Given the description of an element on the screen output the (x, y) to click on. 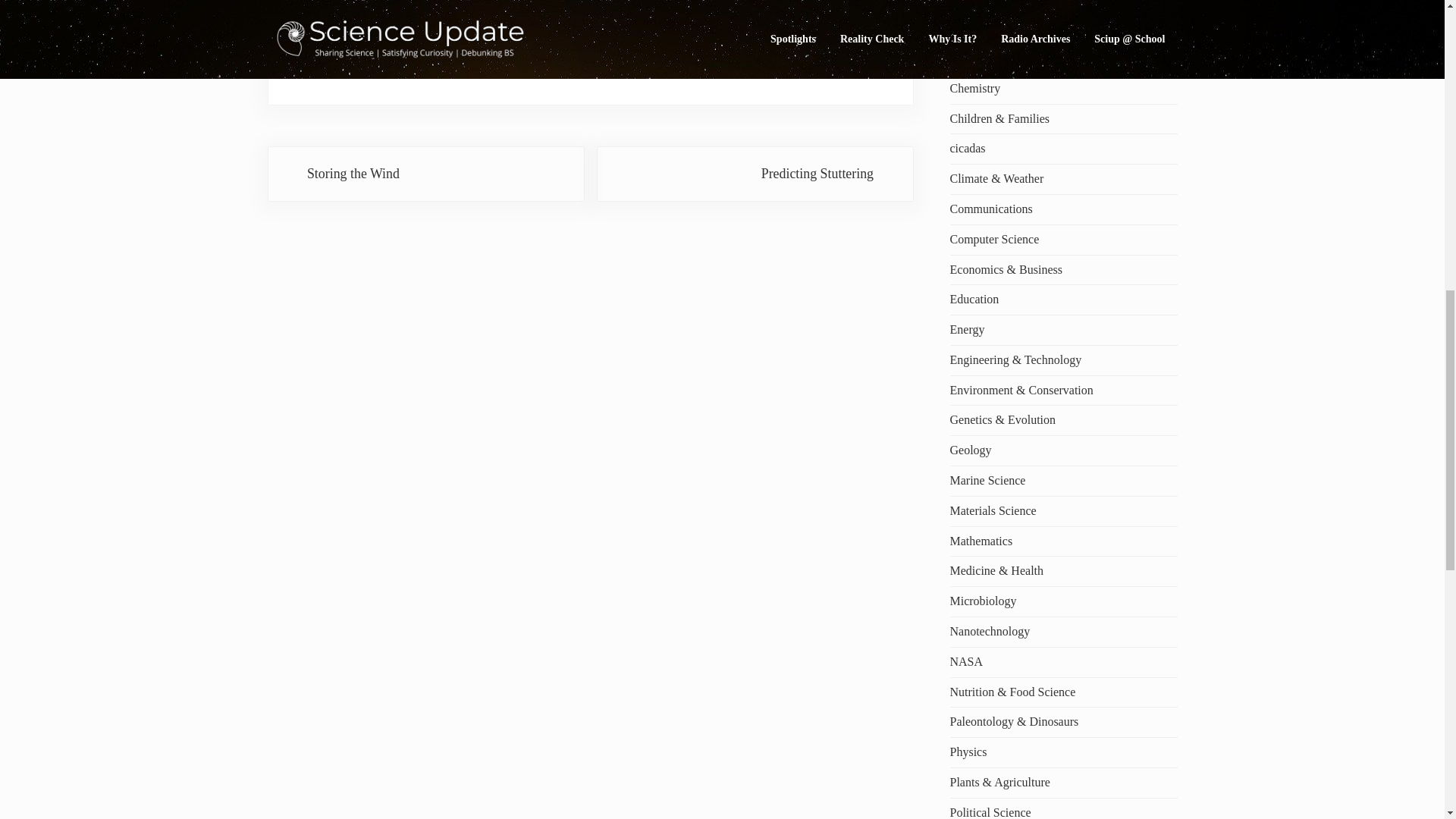
Share (381, 0)
Share (327, 0)
